Given the description of an element on the screen output the (x, y) to click on. 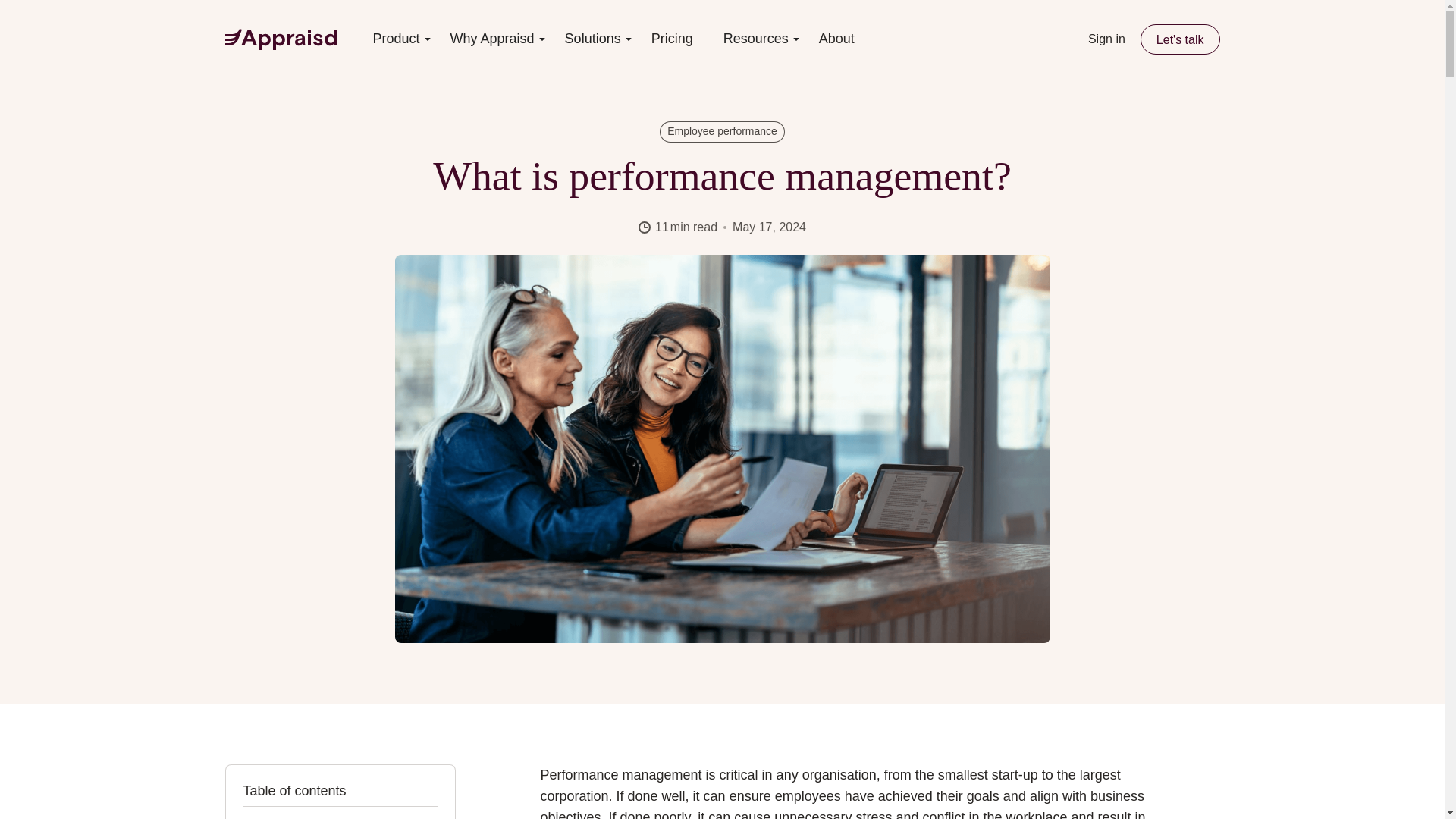
Clock icon (644, 227)
Logo Appraisd (280, 38)
Pricing (671, 39)
Logo Appraisd (280, 38)
